Given the description of an element on the screen output the (x, y) to click on. 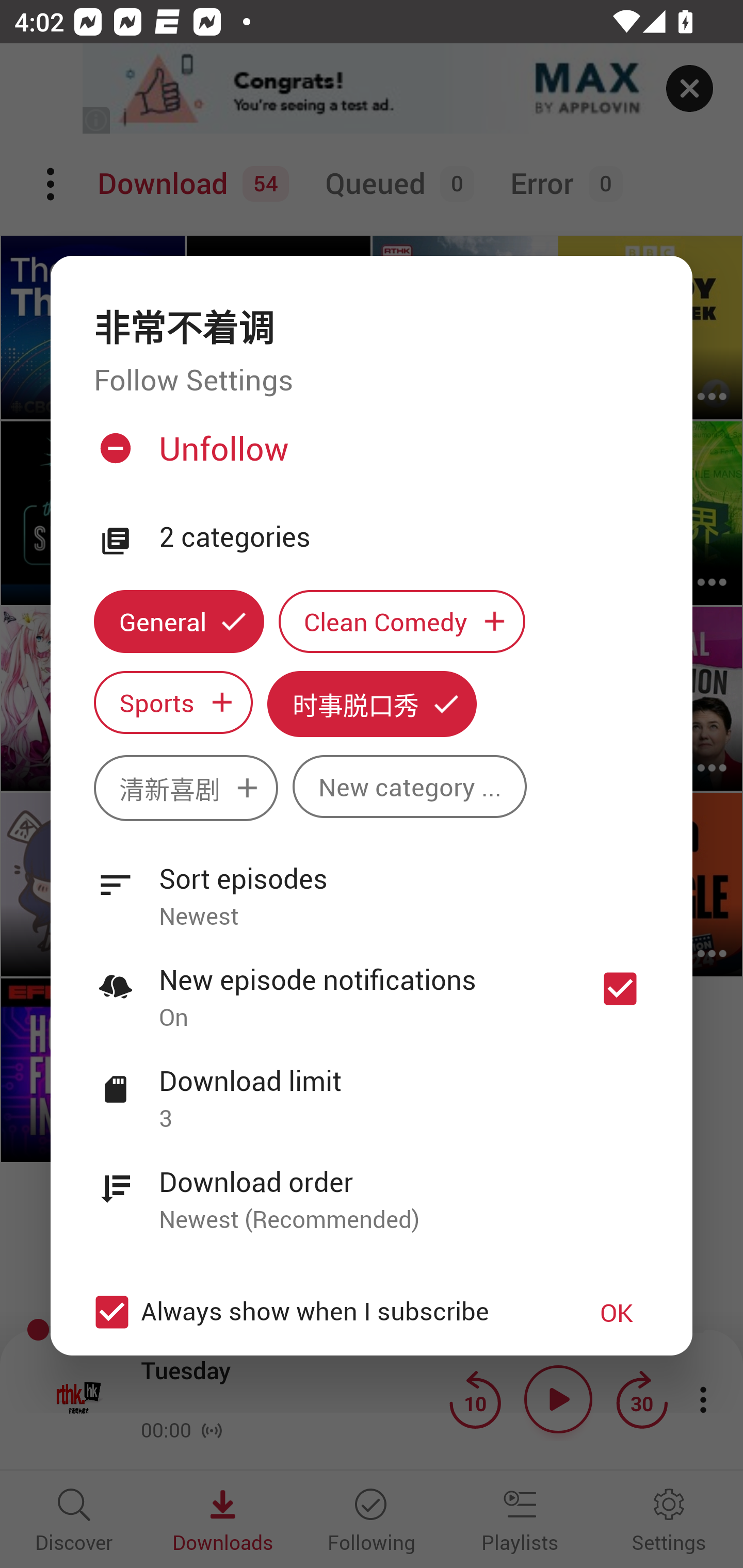
Unfollow (369, 456)
2 categories (404, 537)
General (178, 620)
Clean Comedy (401, 620)
Sports (172, 702)
时事脱口秀 (372, 703)
清新喜剧 (185, 788)
New category ... (409, 786)
Sort episodes Newest (371, 885)
New episode notifications (620, 988)
Download limit 3 (371, 1088)
Download order Newest (Recommended) (371, 1189)
OK (616, 1311)
Always show when I subscribe (320, 1311)
